Given the description of an element on the screen output the (x, y) to click on. 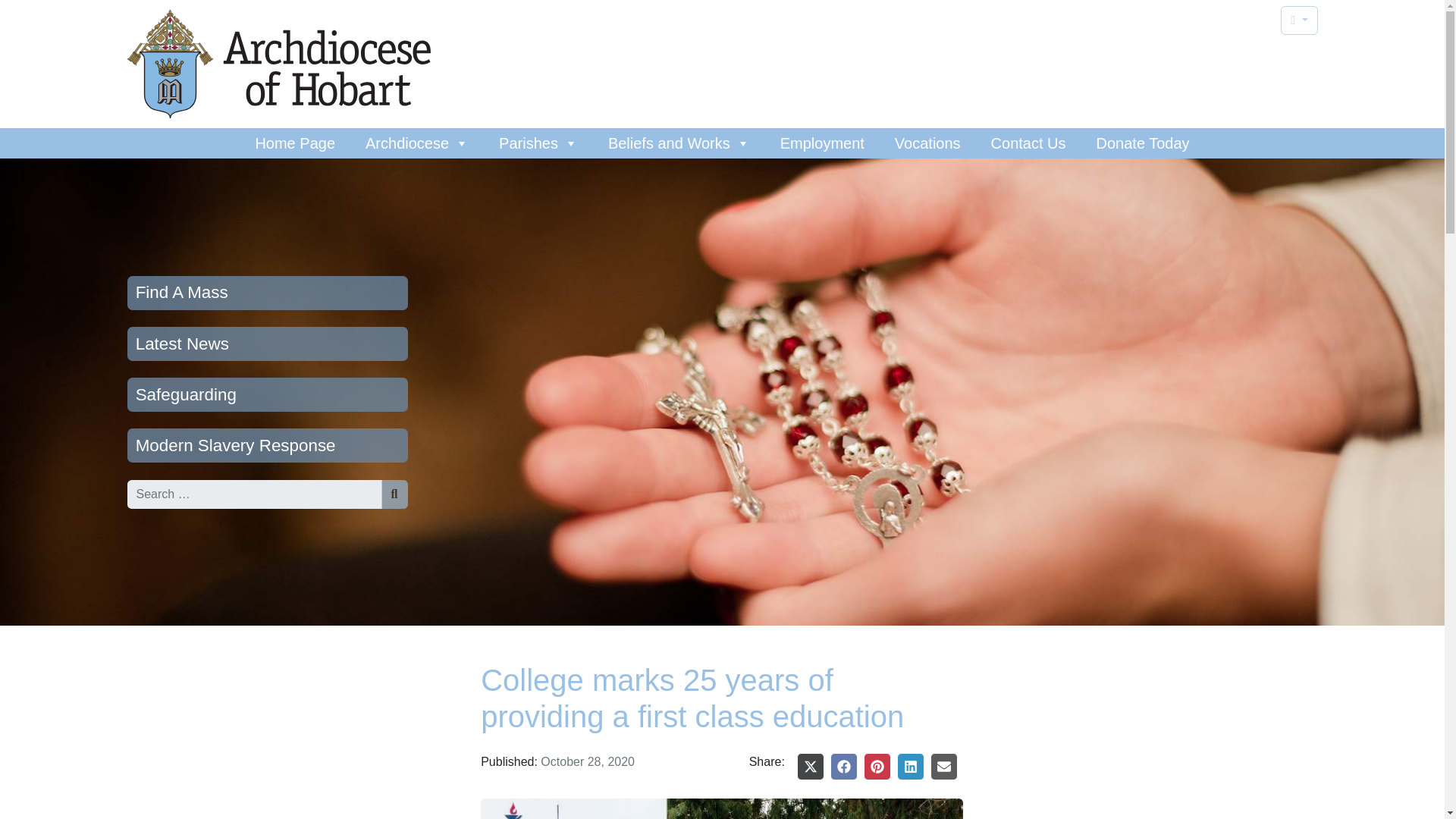
Change font size (1299, 20)
Archdiocese of Hobart (279, 64)
Parishes (537, 142)
Archdiocese (416, 142)
Home Page (295, 142)
